Given the description of an element on the screen output the (x, y) to click on. 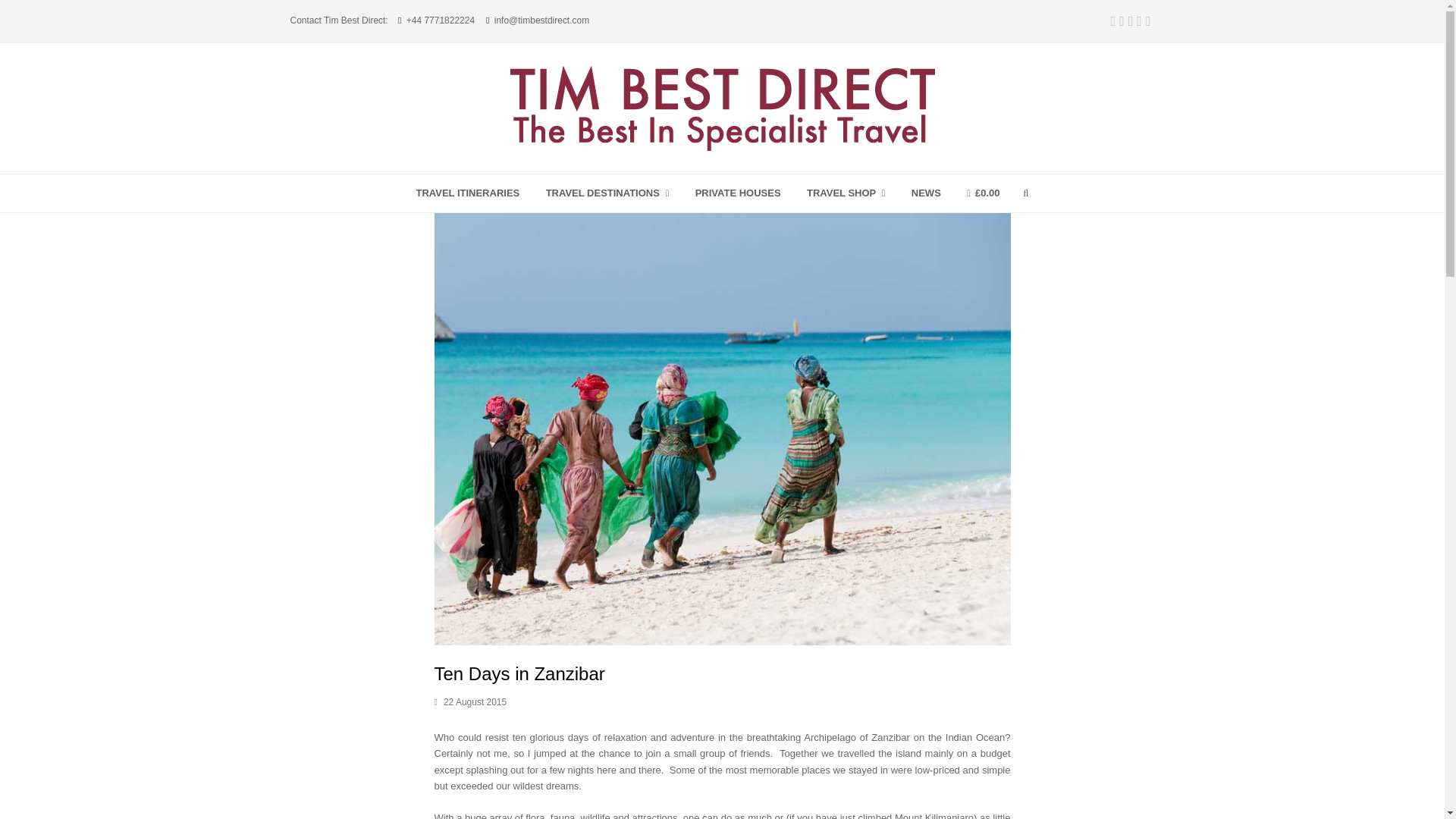
Facebook (1121, 21)
Instagram (1139, 21)
LinkedIn (1148, 21)
Facebook (1121, 21)
Instagram (1139, 21)
TRAVEL DESTINATIONS (606, 193)
TRAVEL ITINERARIES (467, 193)
Pinterest (1131, 21)
Twitter (1113, 21)
LinkedIn (1148, 21)
Pinterest (1131, 21)
Twitter (1113, 21)
